Given the description of an element on the screen output the (x, y) to click on. 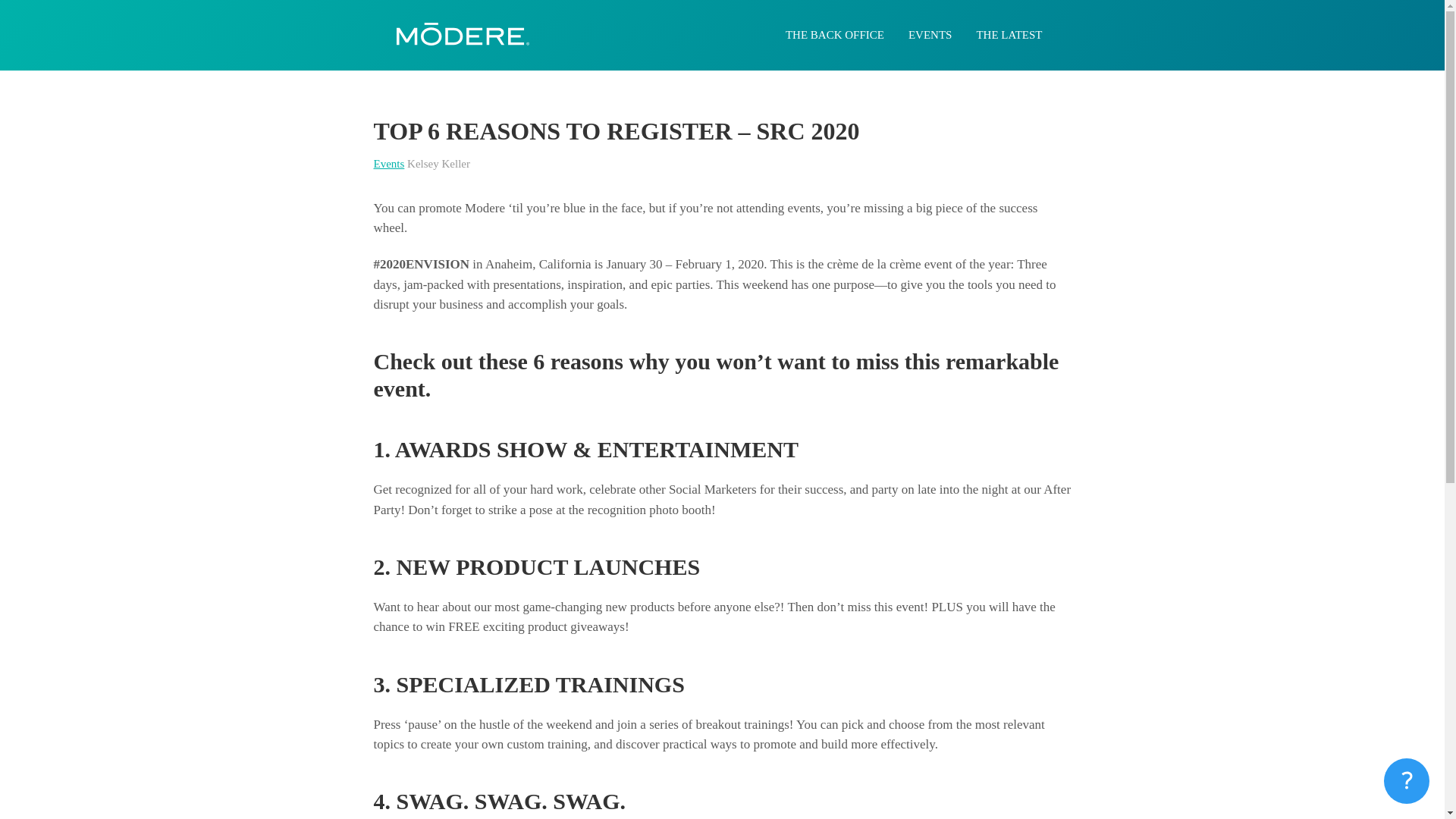
Modere The Latest (1008, 34)
Events (388, 163)
THE LATEST (1008, 34)
Modere Events (930, 34)
THE BACK OFFICE (833, 34)
EVENTS (930, 34)
Modere Back Office (833, 34)
